Given the description of an element on the screen output the (x, y) to click on. 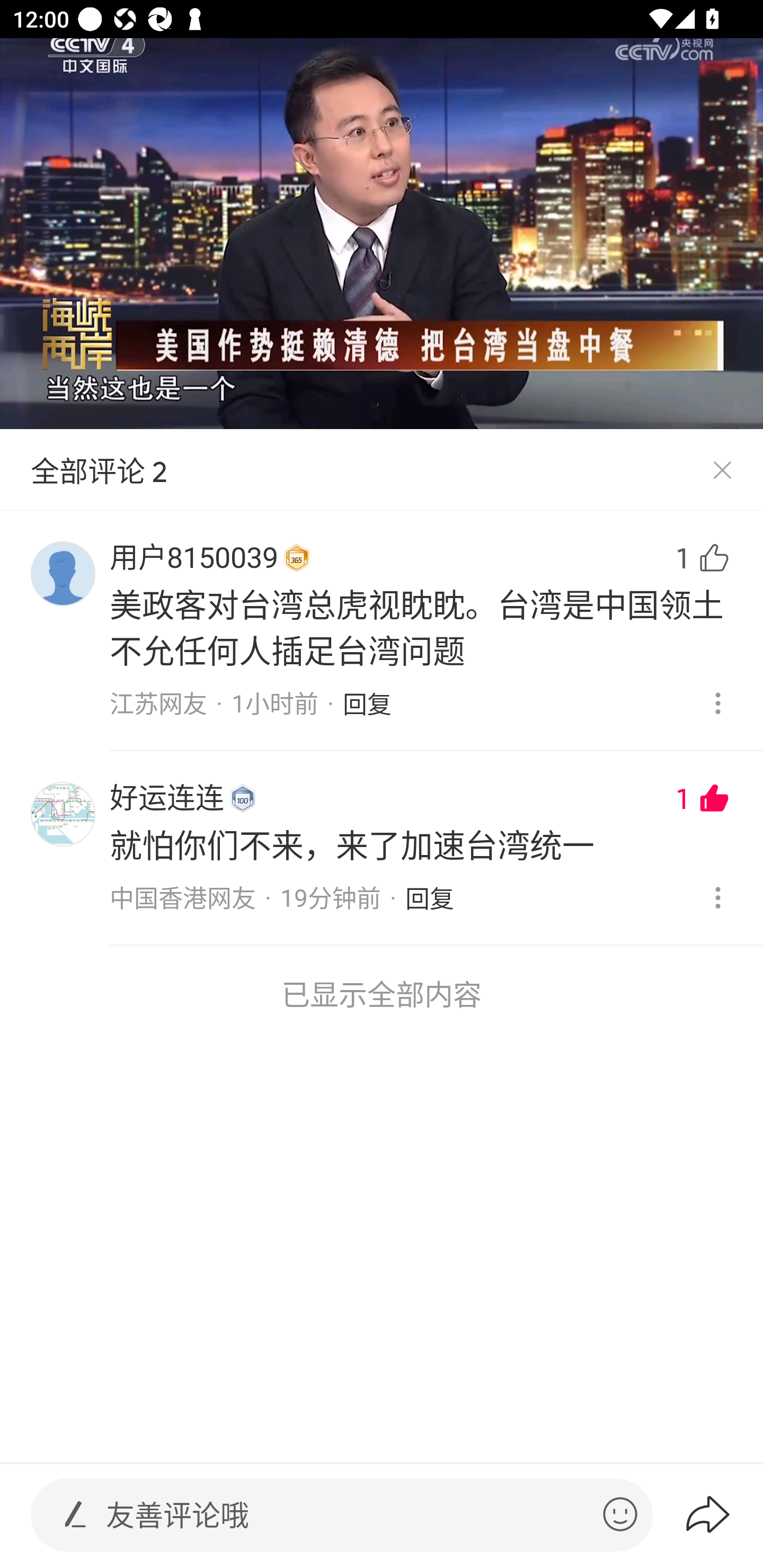
全部评论 2 关闭 (381, 470)
关闭 (722, 470)
UserRightLabel_OneMedalView 勋章 (296, 558)
UserRightLabel_OneMedalView 勋章 (242, 798)
已显示全部内容 (381, 993)
友善评论哦 发表评论 (346, 1515)
 分享 (723, 1514)
 (75, 1514)
 (619, 1514)
